Given the description of an element on the screen output the (x, y) to click on. 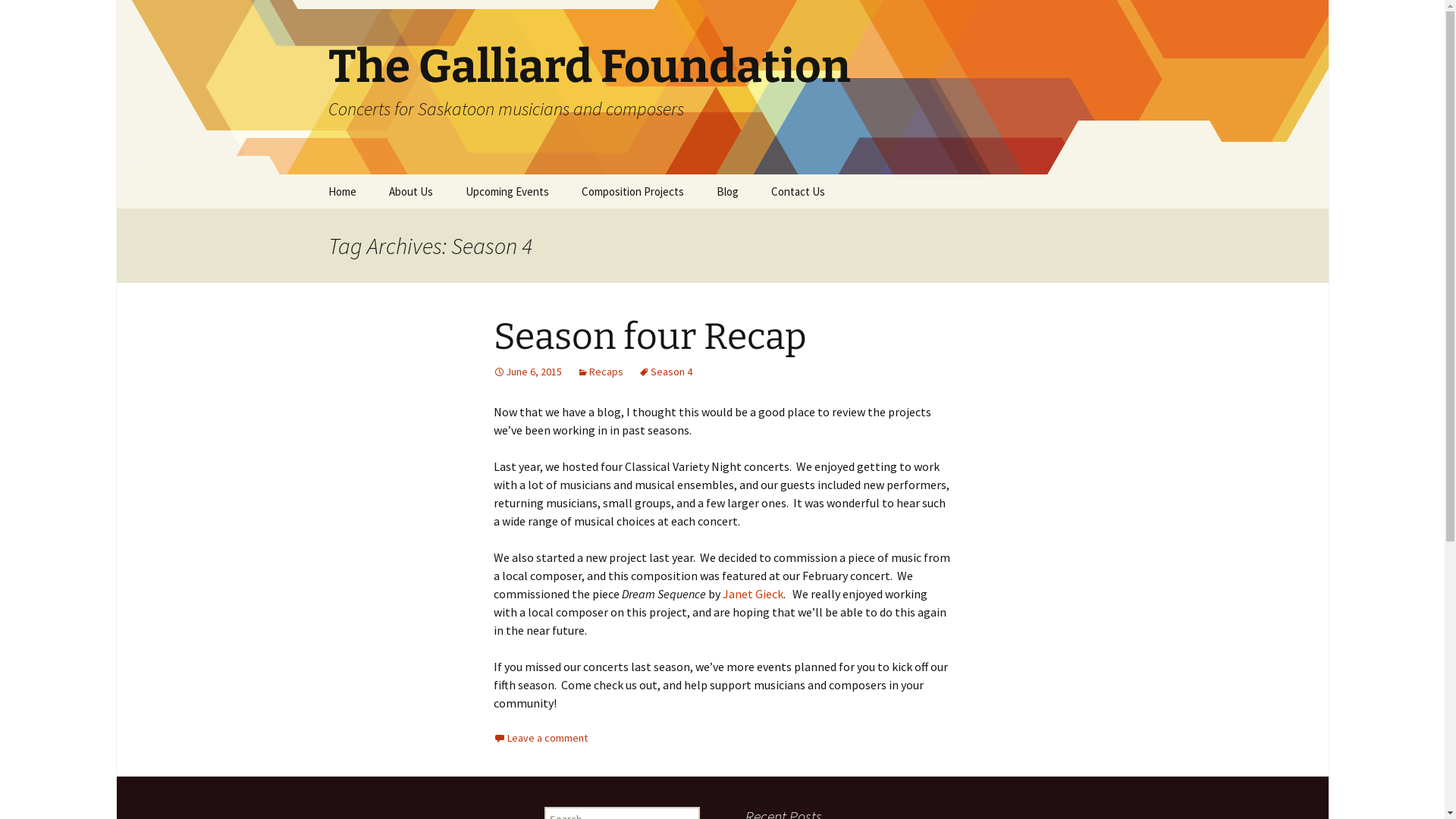
Recaps Element type: text (599, 371)
Contact Us Element type: text (797, 191)
Leave a comment Element type: text (539, 737)
Season four Recap Element type: text (649, 336)
Blog Element type: text (726, 191)
Home Element type: text (341, 191)
Search Element type: text (18, 16)
Skip to content Element type: text (312, 173)
About Us Element type: text (410, 191)
Season 4 Element type: text (665, 371)
Upcoming Events Element type: text (507, 191)
Janet Gieck Element type: text (751, 593)
Composition Projects Element type: text (631, 191)
Search Element type: text (34, 15)
June 6, 2015 Element type: text (526, 371)
